Given the description of an element on the screen output the (x, y) to click on. 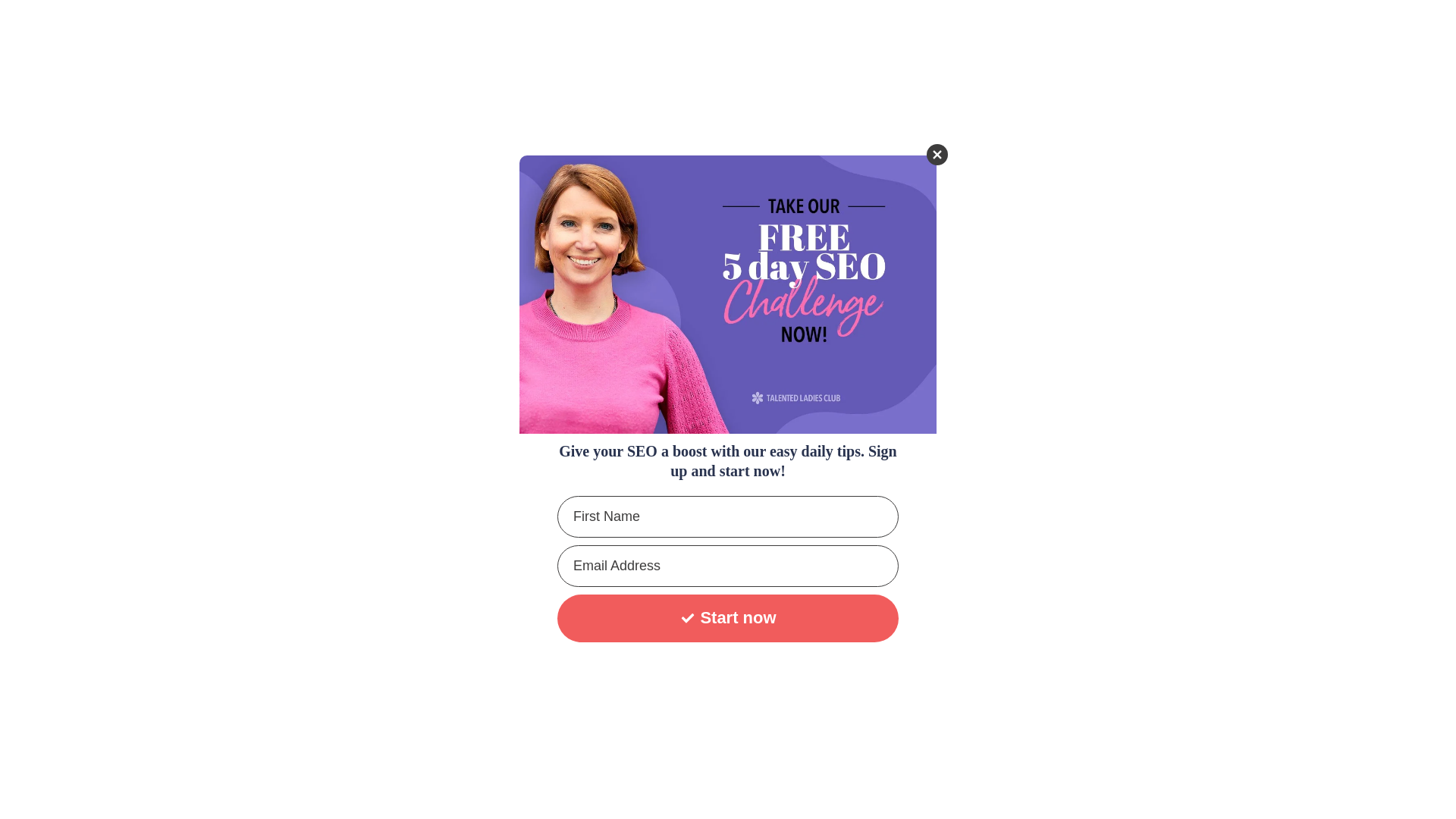
Mentoring (1015, 28)
Contact (1150, 28)
Close (936, 154)
Articles (879, 28)
Start now (727, 618)
Our story (810, 28)
Courses (943, 28)
Podcast (1086, 28)
